Given the description of an element on the screen output the (x, y) to click on. 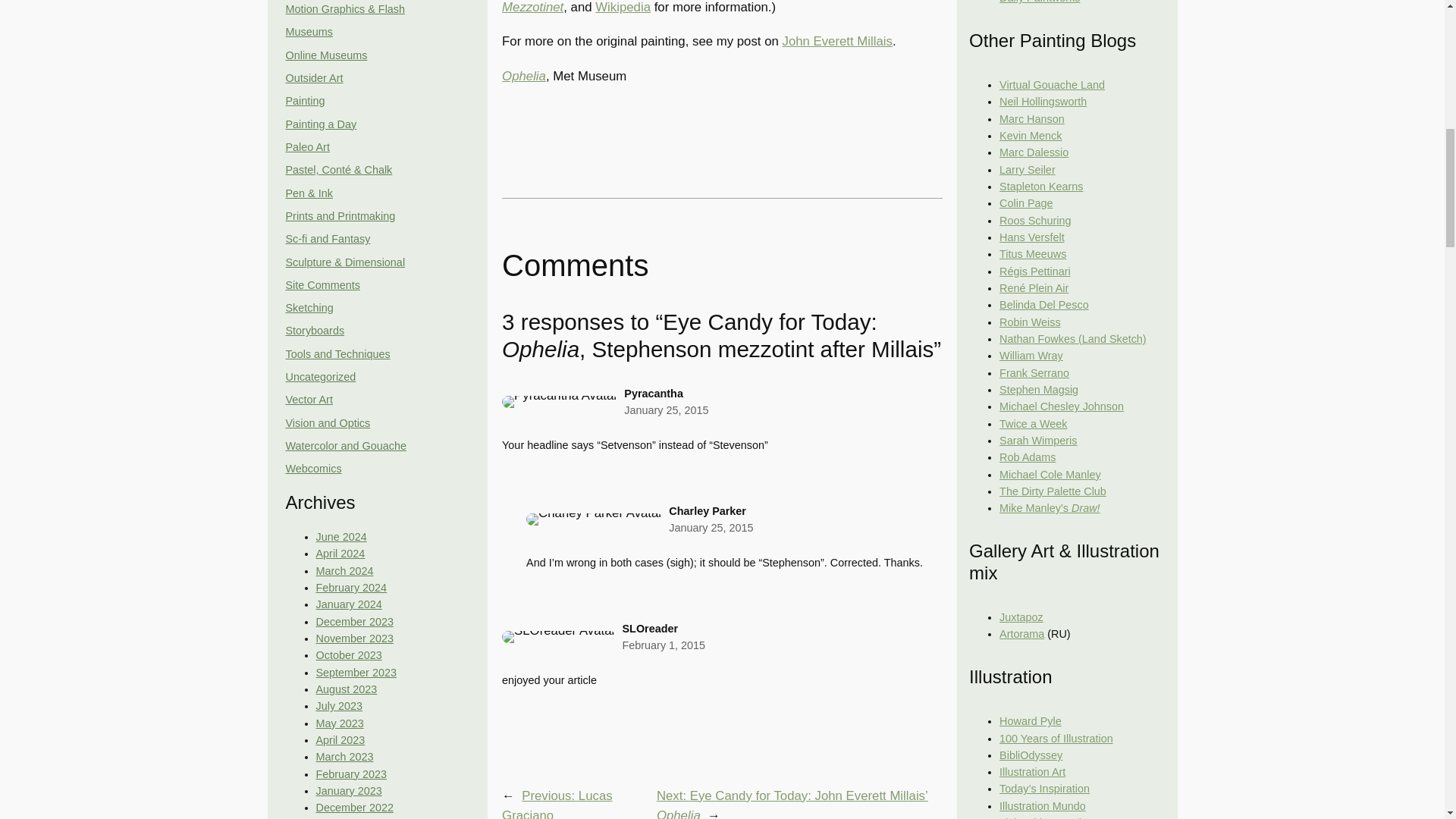
Prints and Printmaking (339, 215)
Painting (304, 101)
Museums (308, 31)
Uncategorized (320, 377)
Online Museums (325, 55)
Painting a Day (320, 123)
Sc-fi and Fantasy (327, 238)
Tools and Techniques (337, 354)
Site Comments (322, 285)
Sketching (309, 307)
Outsider Art (313, 78)
Paleo Art (307, 146)
Storyboards (314, 330)
